Given the description of an element on the screen output the (x, y) to click on. 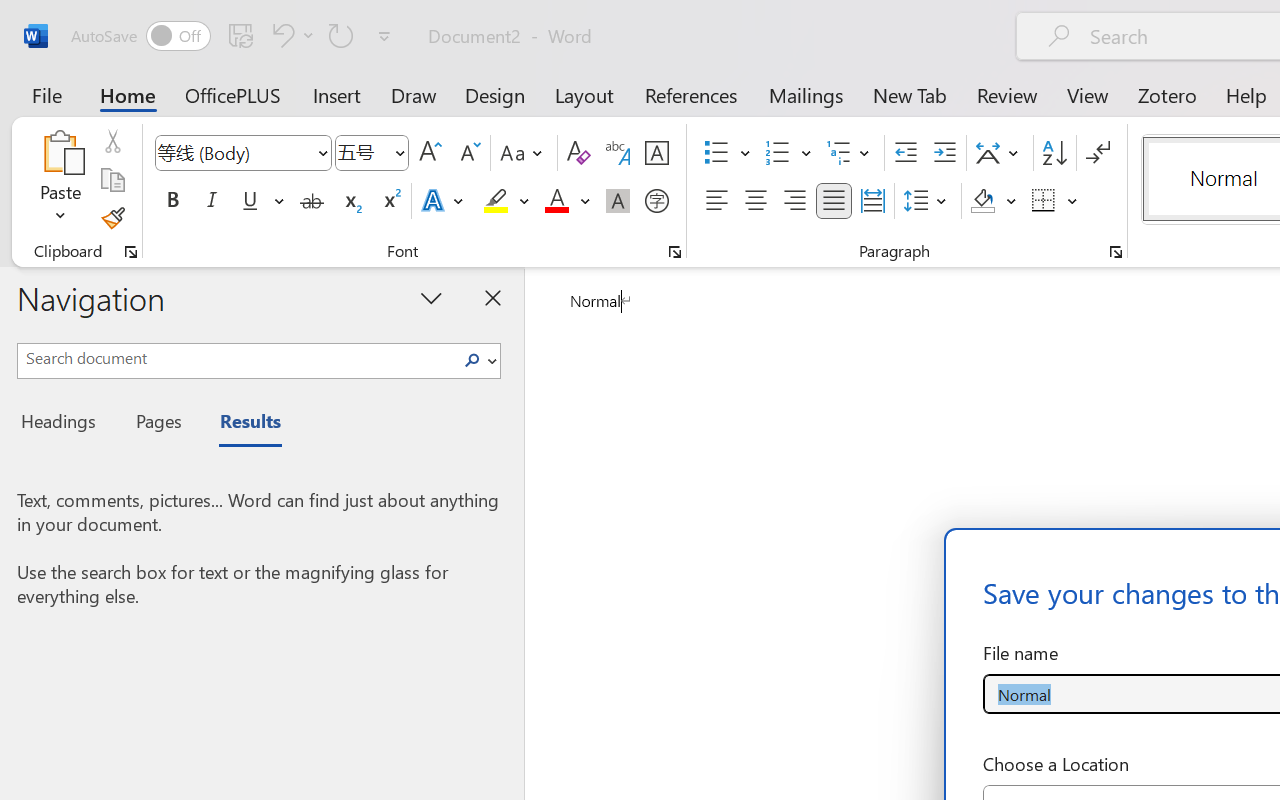
Home (127, 94)
OfficePLUS (233, 94)
Search (478, 360)
Enclose Characters... (656, 201)
Change Case (524, 153)
Copy (112, 179)
Review (1007, 94)
